Given the description of an element on the screen output the (x, y) to click on. 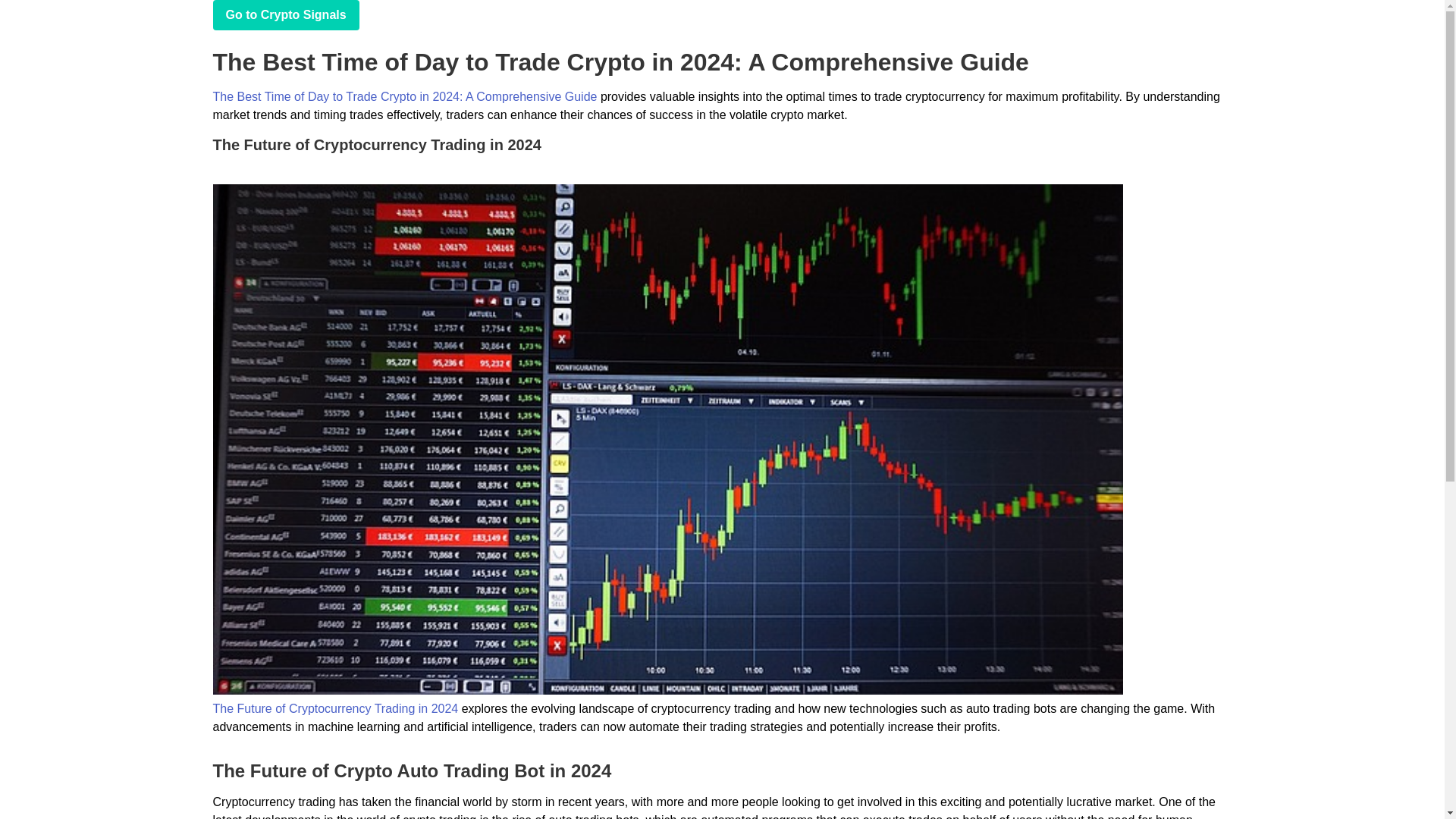
The Future of Cryptocurrency Trading in 2024 (335, 707)
Go to Crypto Signals (285, 15)
play (285, 15)
